Given the description of an element on the screen output the (x, y) to click on. 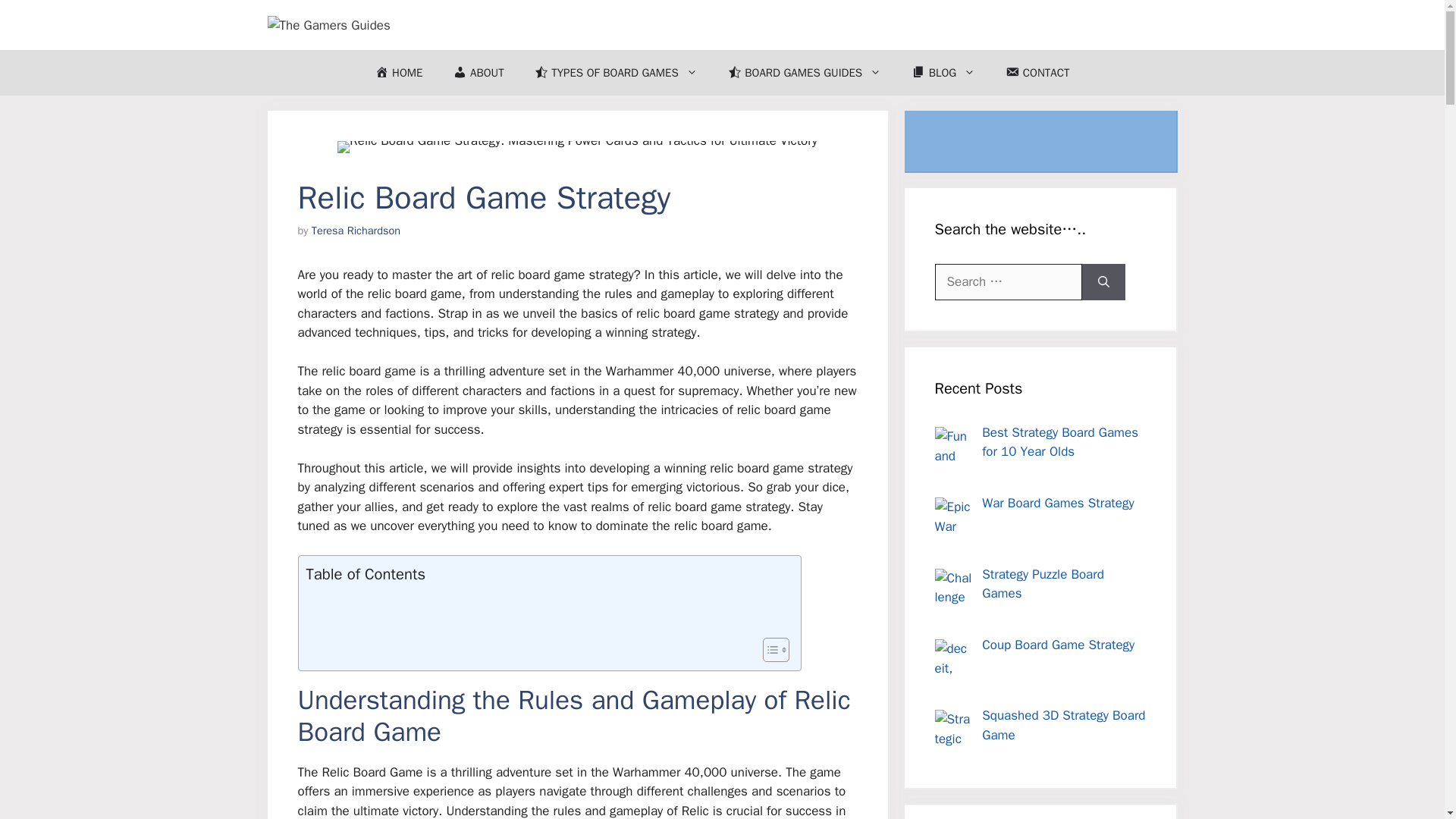
View all posts by Teresa Richardson (355, 230)
Relic Board Game Strategy 1 (576, 146)
